Given the description of an element on the screen output the (x, y) to click on. 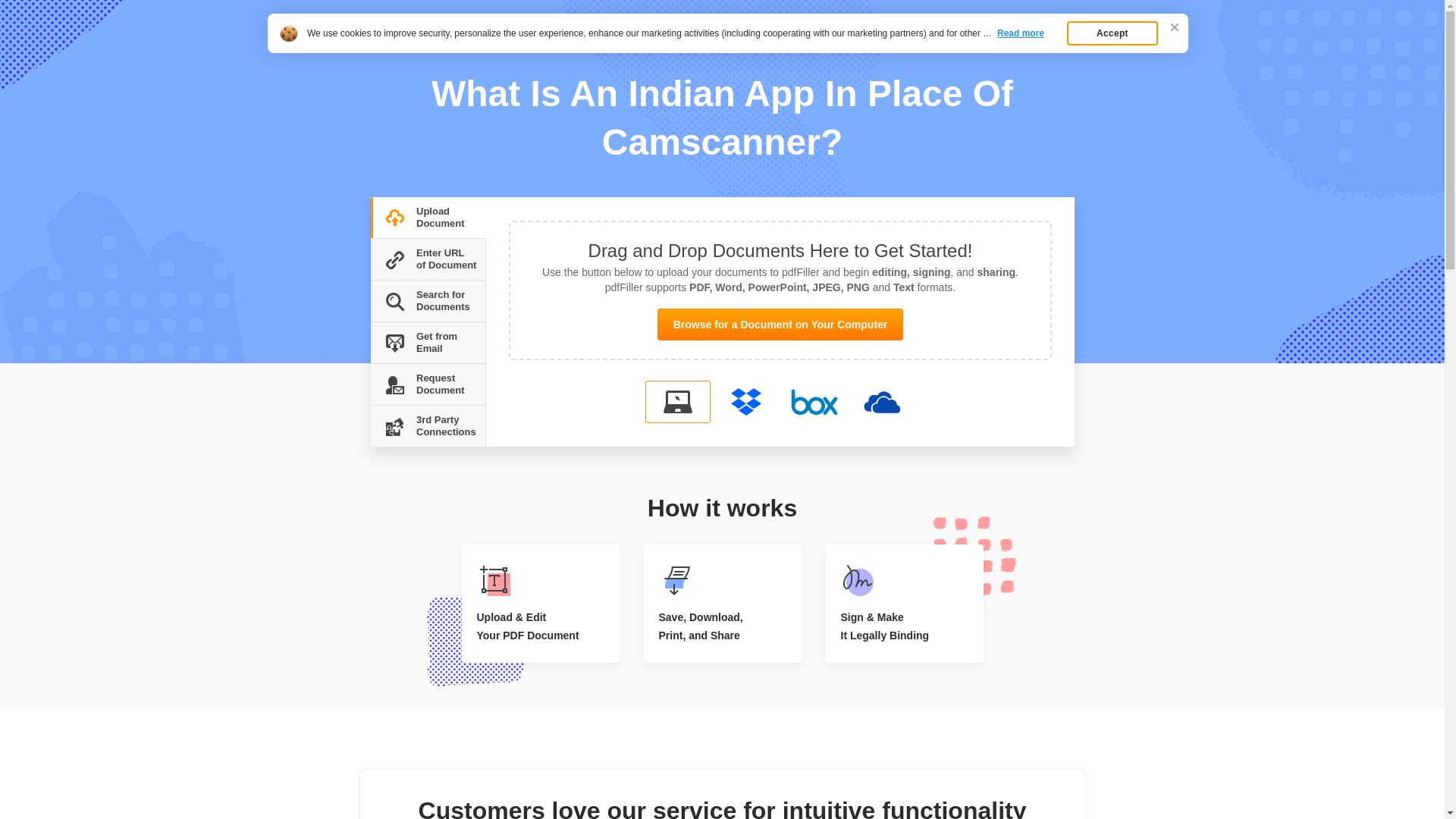
Home (380, 48)
Combine And Reorder PDF (456, 23)
What Is An Indian App In Place Of Camscanner? (528, 48)
FAQ (413, 48)
